Given the description of an element on the screen output the (x, y) to click on. 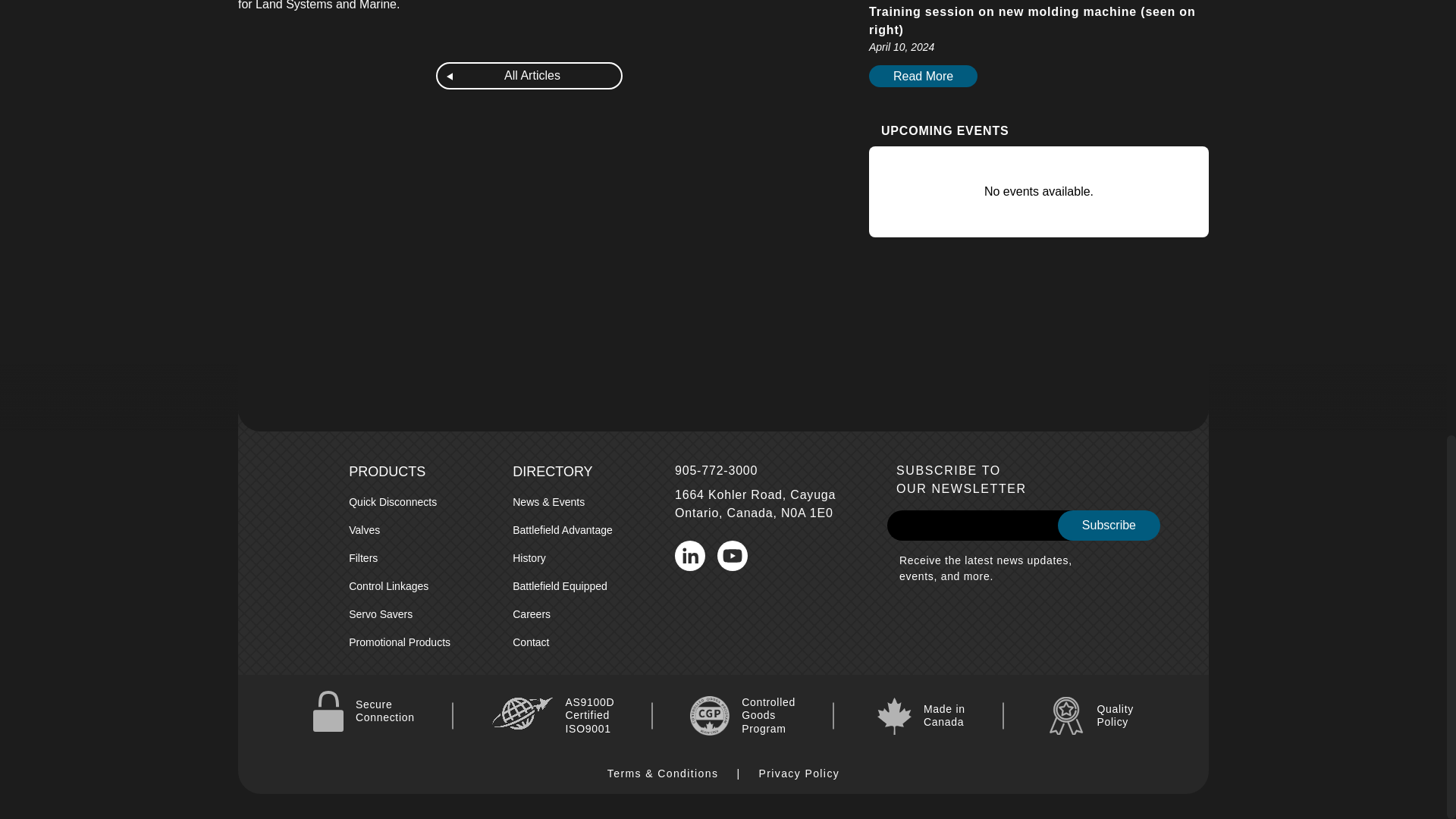
All Articles (529, 75)
Read More (922, 75)
